Given the description of an element on the screen output the (x, y) to click on. 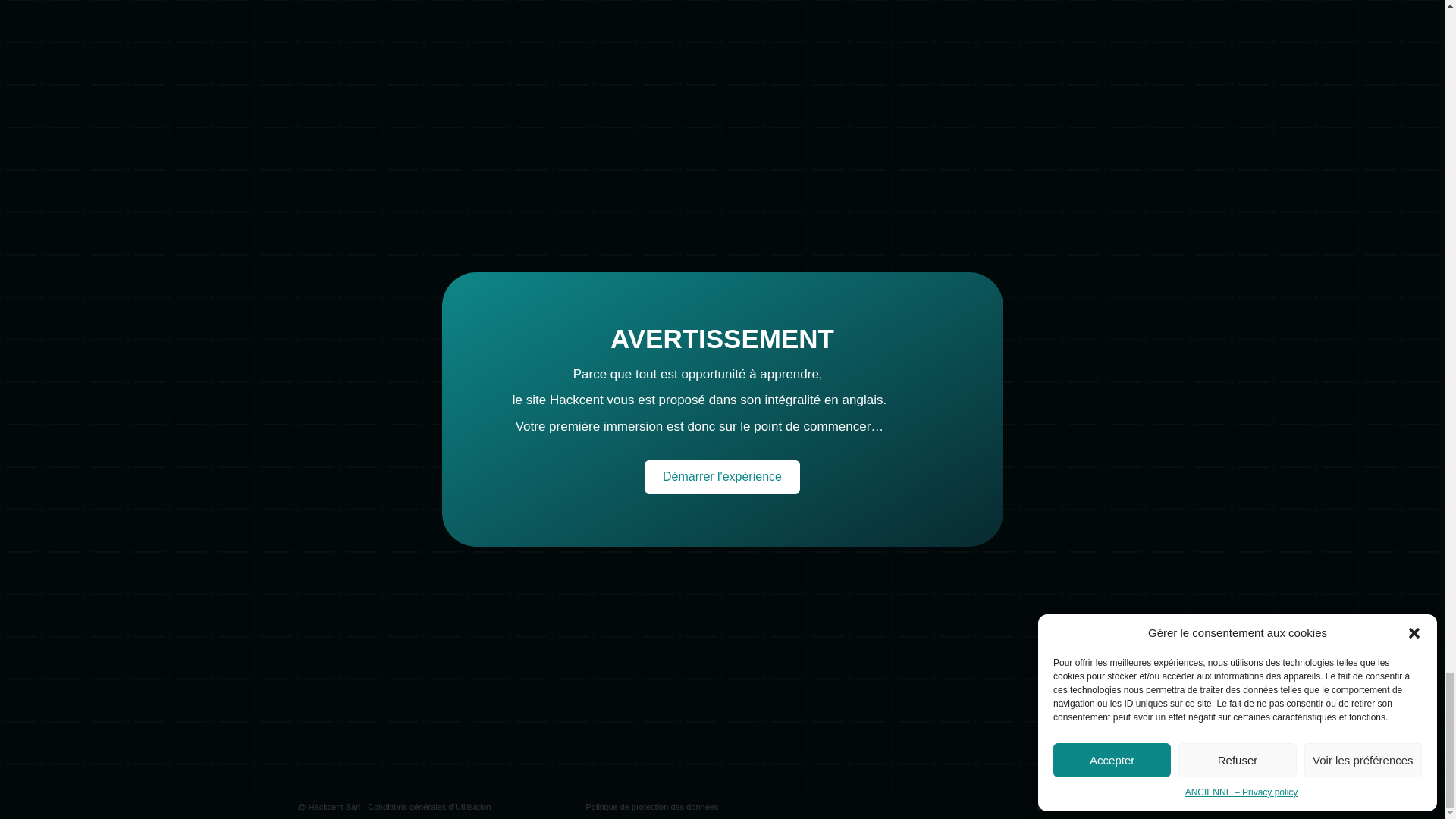
Designed with love by Waouh (1091, 806)
